Given the description of an element on the screen output the (x, y) to click on. 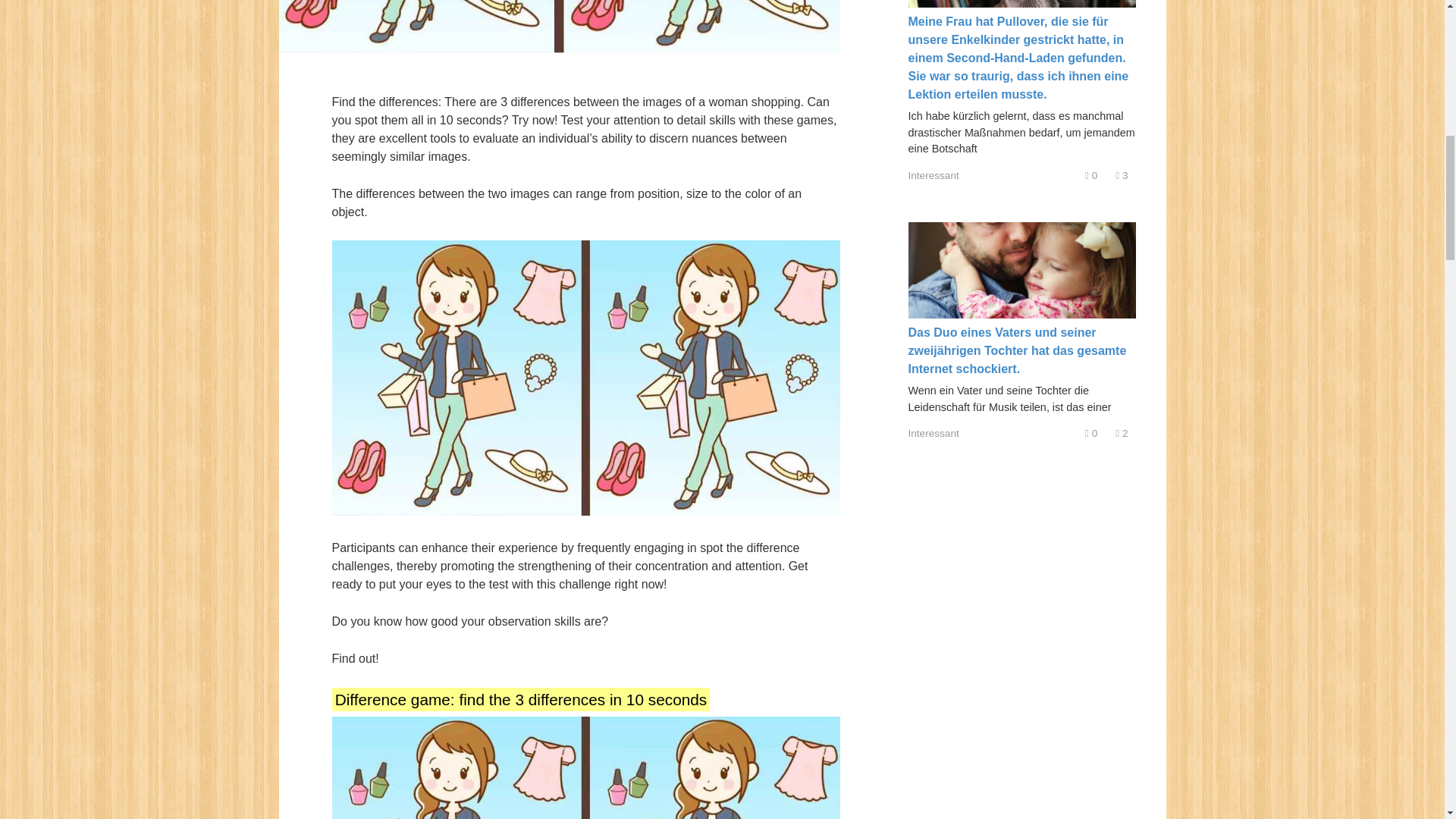
Interessant (933, 432)
Interessant (933, 174)
